Given the description of an element on the screen output the (x, y) to click on. 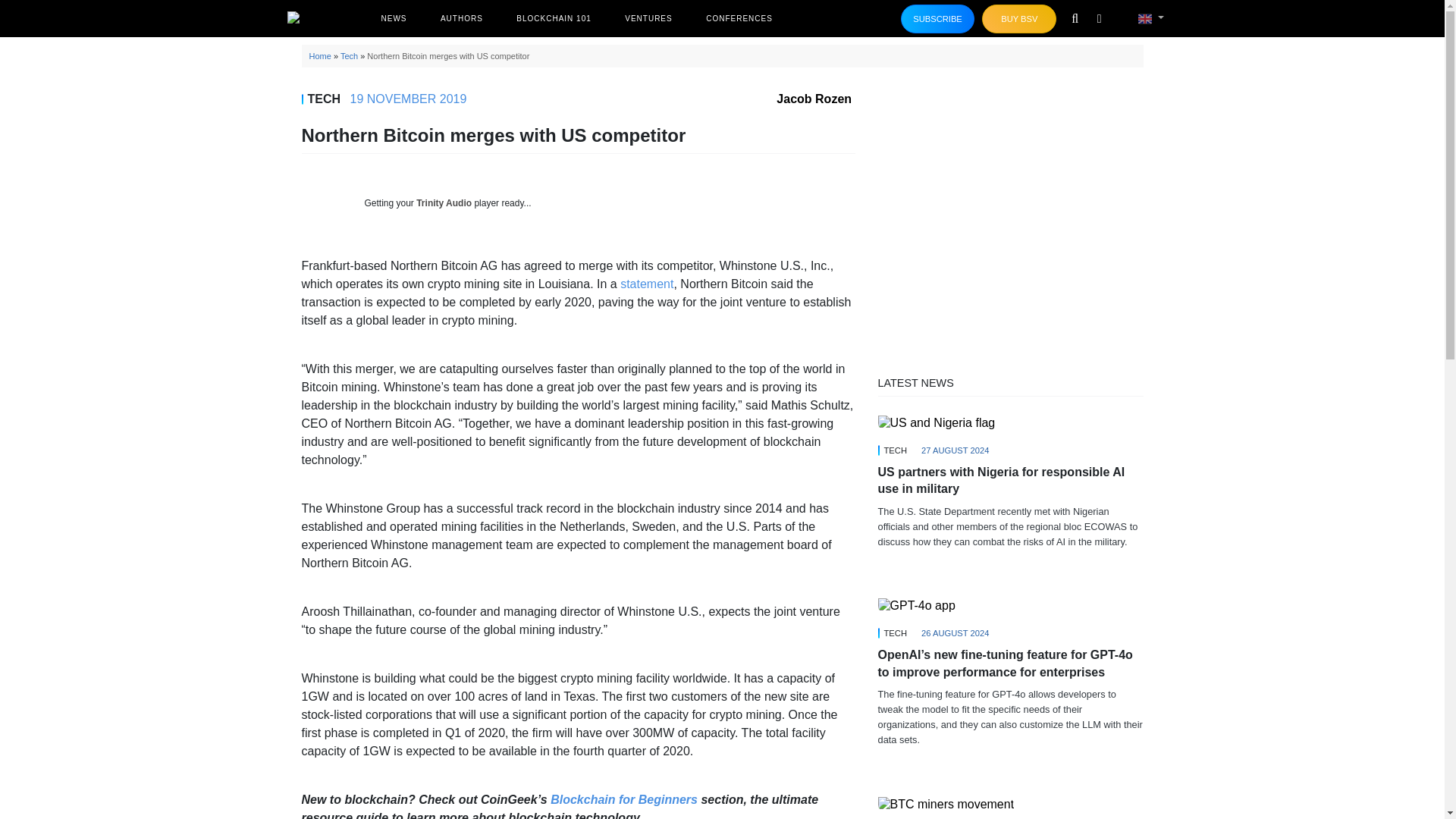
Blockchain for Beginners (623, 799)
CONFERENCES (739, 18)
statement (646, 283)
BUY BSV (1019, 18)
Tech (349, 55)
GPT-4o (916, 605)
Home (319, 55)
BTC (945, 804)
BLOCKCHAIN 101 (553, 18)
NEWS (392, 18)
